Given the description of an element on the screen output the (x, y) to click on. 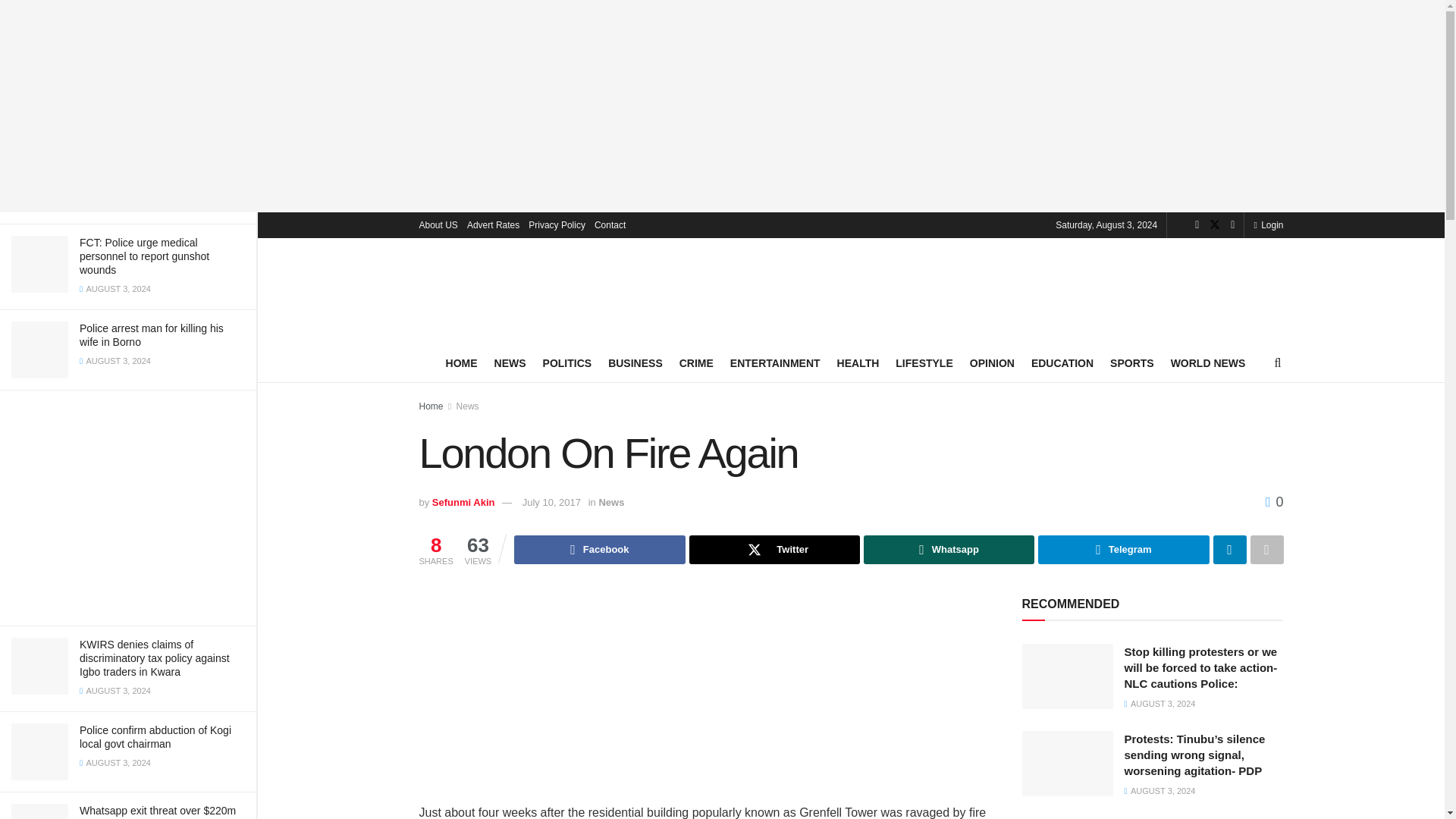
About US (438, 225)
Contact (610, 225)
CRIME (696, 362)
Privacy Policy (556, 225)
FCT: Police urge medical personnel to report gunshot wounds (144, 256)
POLITICS (567, 362)
EDUCATION (1061, 362)
ENTERTAINMENT (775, 362)
HEALTH (858, 362)
